Given the description of an element on the screen output the (x, y) to click on. 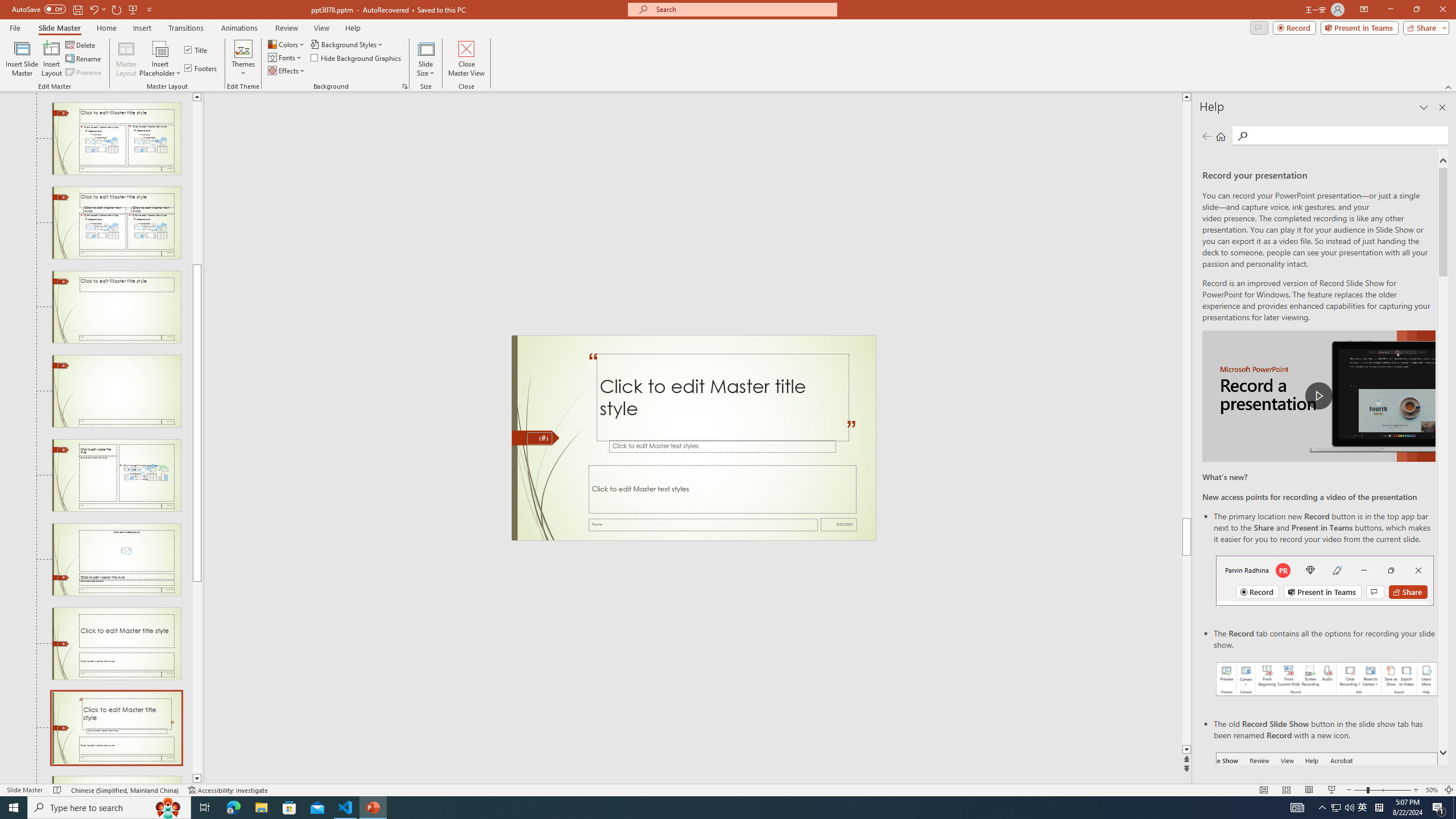
Slide Name Card Layout: used by no slides (116, 779)
Effects (287, 69)
Title (196, 49)
Content (160, 48)
